Given the description of an element on the screen output the (x, y) to click on. 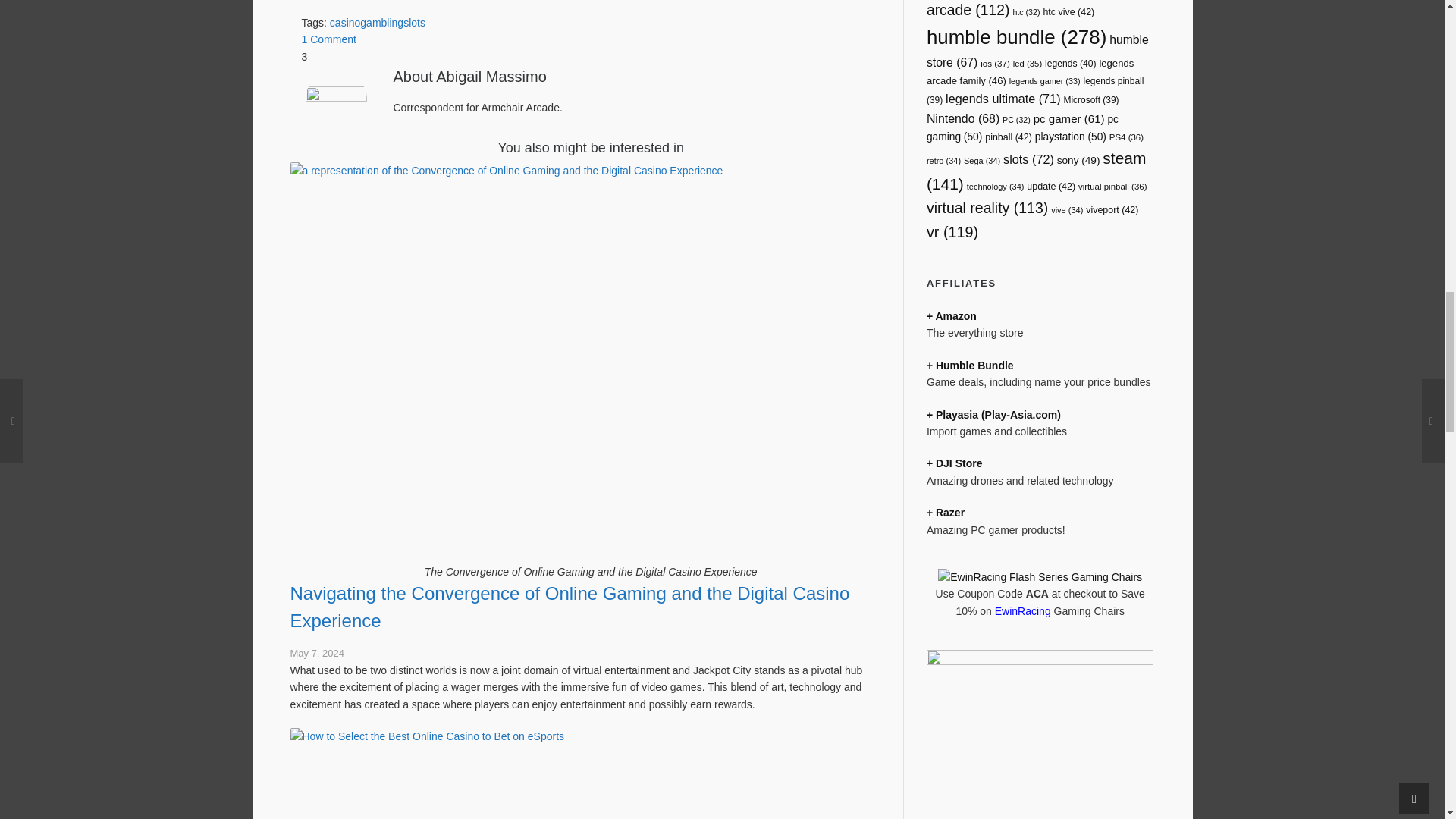
1 Comment (328, 39)
casino (344, 22)
1 Comment (328, 39)
slots (414, 22)
gambling (381, 22)
Like this post. Profile: Novomatic Slots Arcades (590, 56)
